Given the description of an element on the screen output the (x, y) to click on. 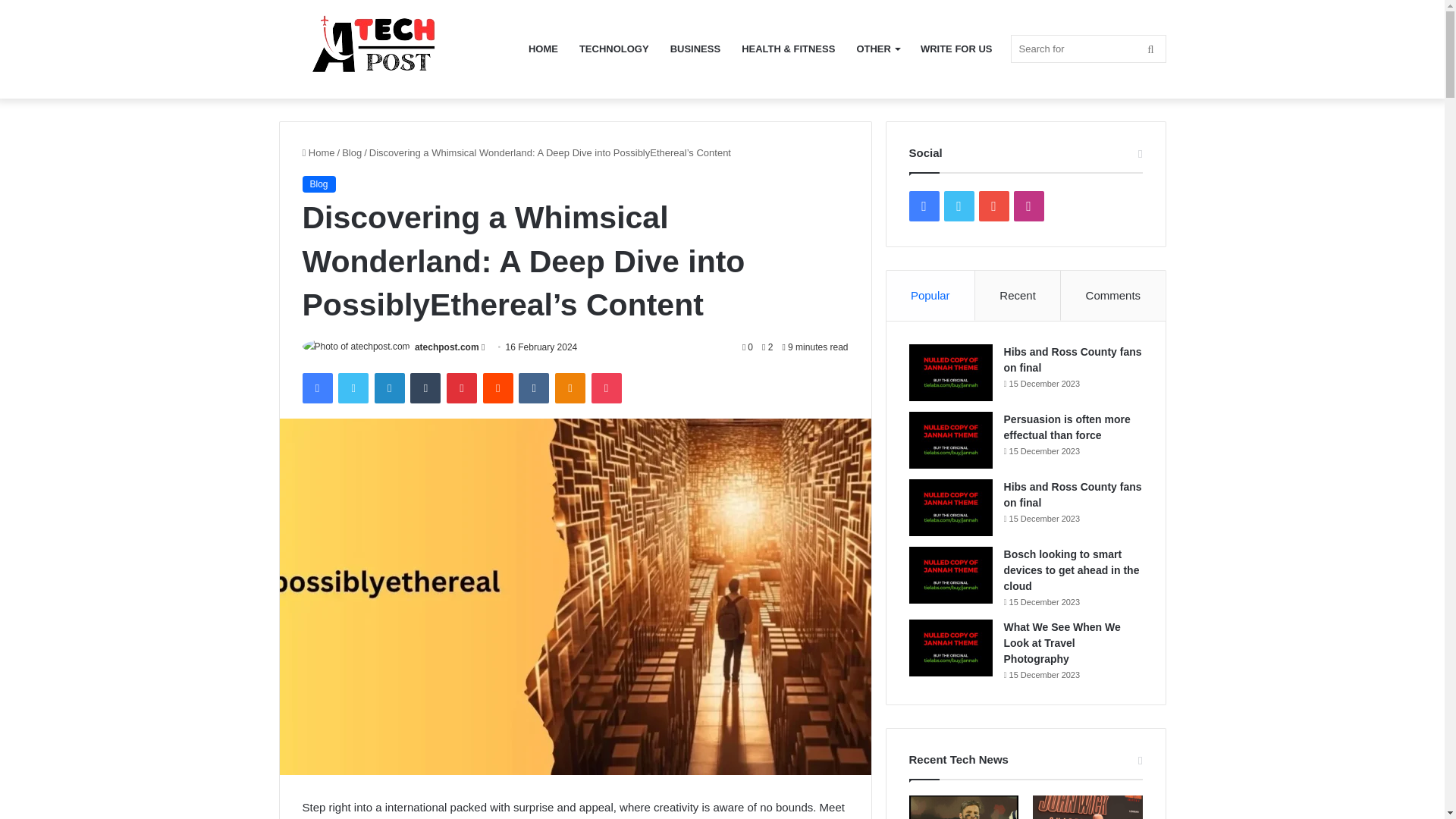
Twitter (352, 388)
Blog (317, 184)
Pocket (606, 388)
atechpost.com (446, 347)
Facebook (316, 388)
atechpost.com (446, 347)
Reddit (498, 388)
WRITE FOR US (956, 49)
Pocket (606, 388)
atechpost.com (392, 49)
